Given the description of an element on the screen output the (x, y) to click on. 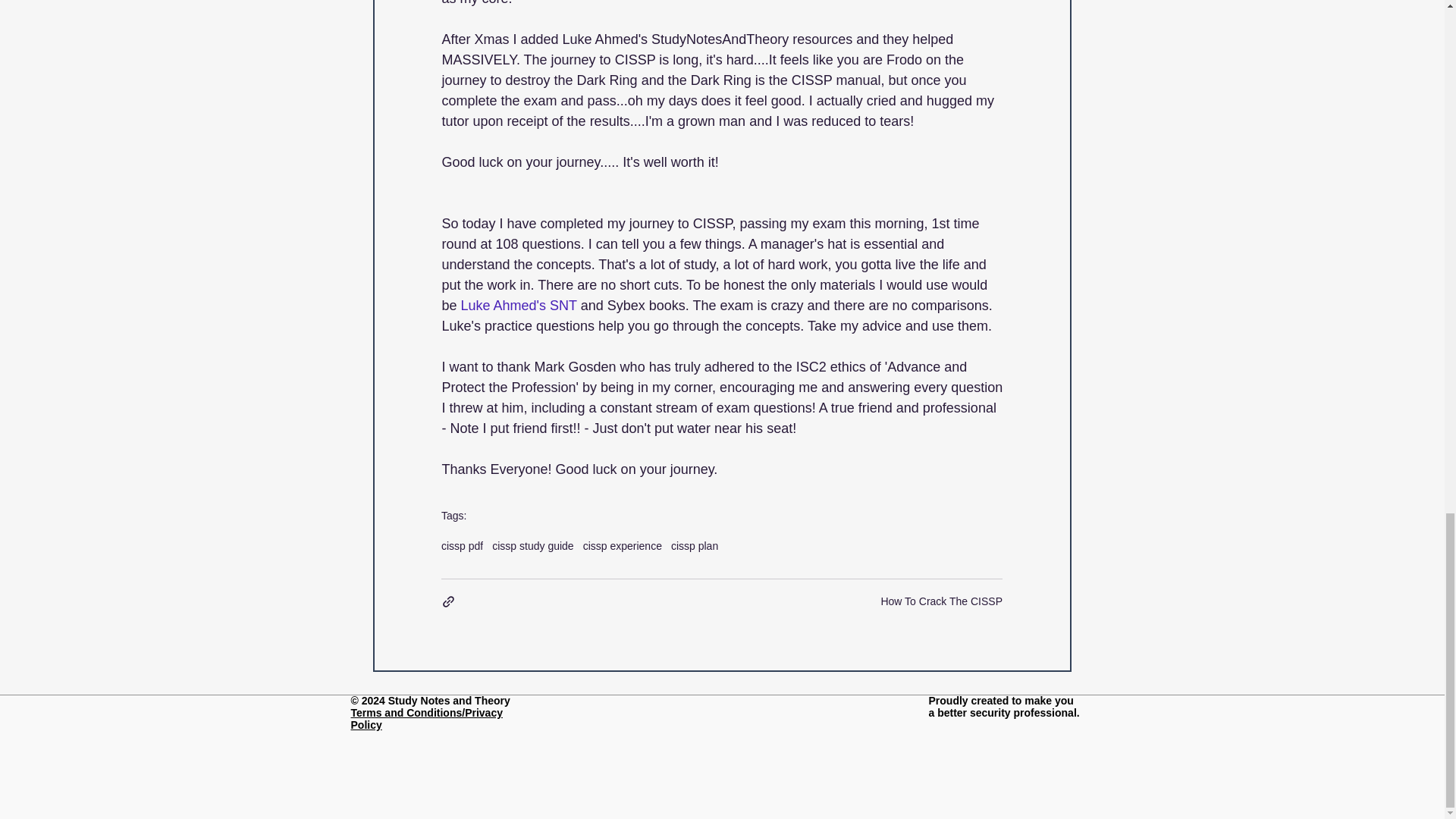
cissp study guide (532, 545)
How To Crack The CISSP (941, 601)
cissp experience (622, 545)
Luke Ahmed's SNT (518, 305)
cissp pdf (462, 545)
cissp plan (694, 545)
